Given the description of an element on the screen output the (x, y) to click on. 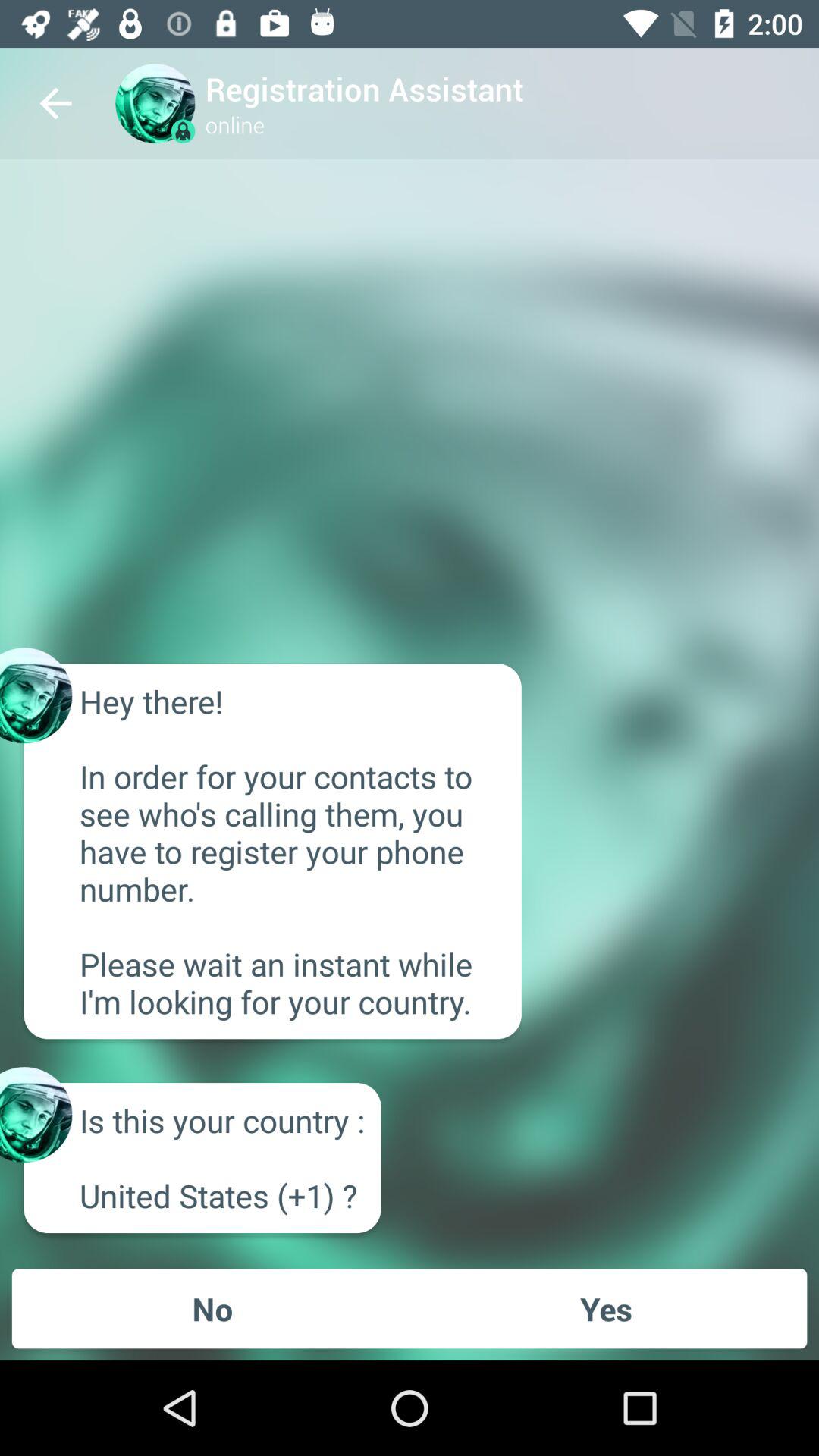
launch the yes (606, 1308)
